Given the description of an element on the screen output the (x, y) to click on. 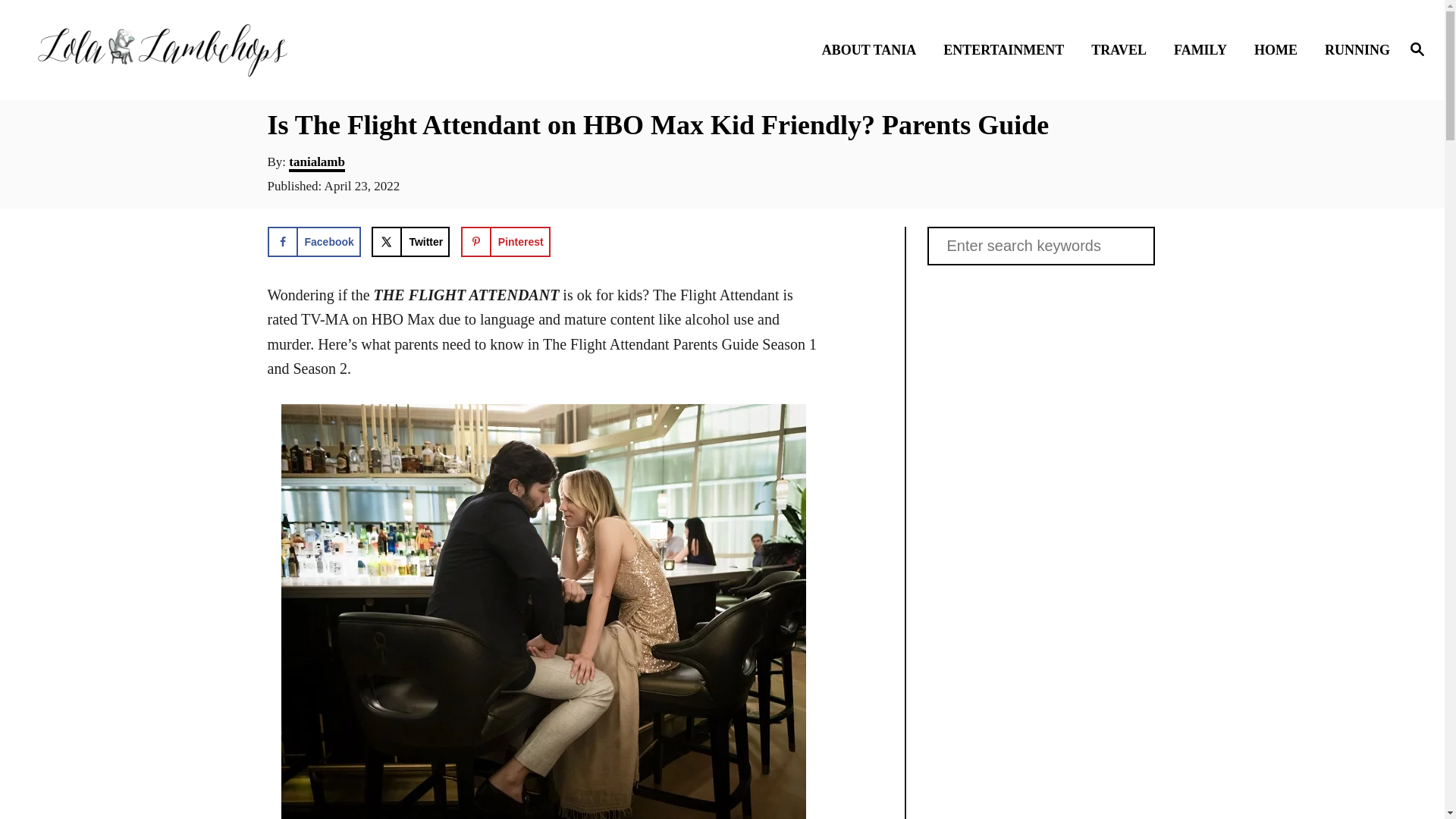
Magnifying Glass (1416, 48)
tanialamb (316, 162)
Share on X (410, 241)
Share on Facebook (312, 241)
HOME (1280, 49)
RUNNING (1353, 49)
FAMILY (1204, 49)
Search for: (1040, 245)
ABOUT TANIA (873, 49)
Save to Pinterest (505, 241)
